Given the description of an element on the screen output the (x, y) to click on. 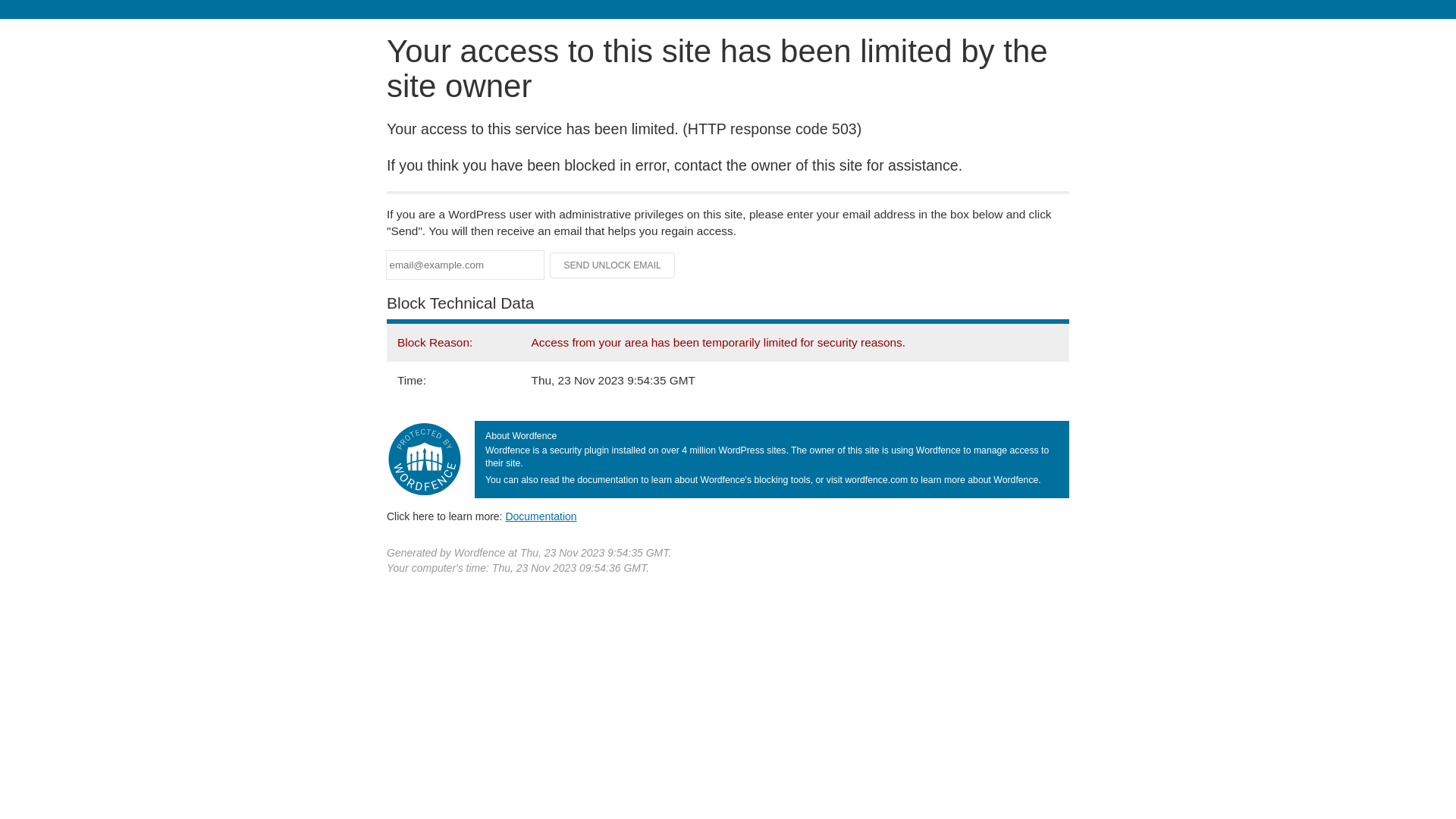
Documentation Element type: text (540, 516)
Send Unlock Email Element type: text (612, 265)
